Given the description of an element on the screen output the (x, y) to click on. 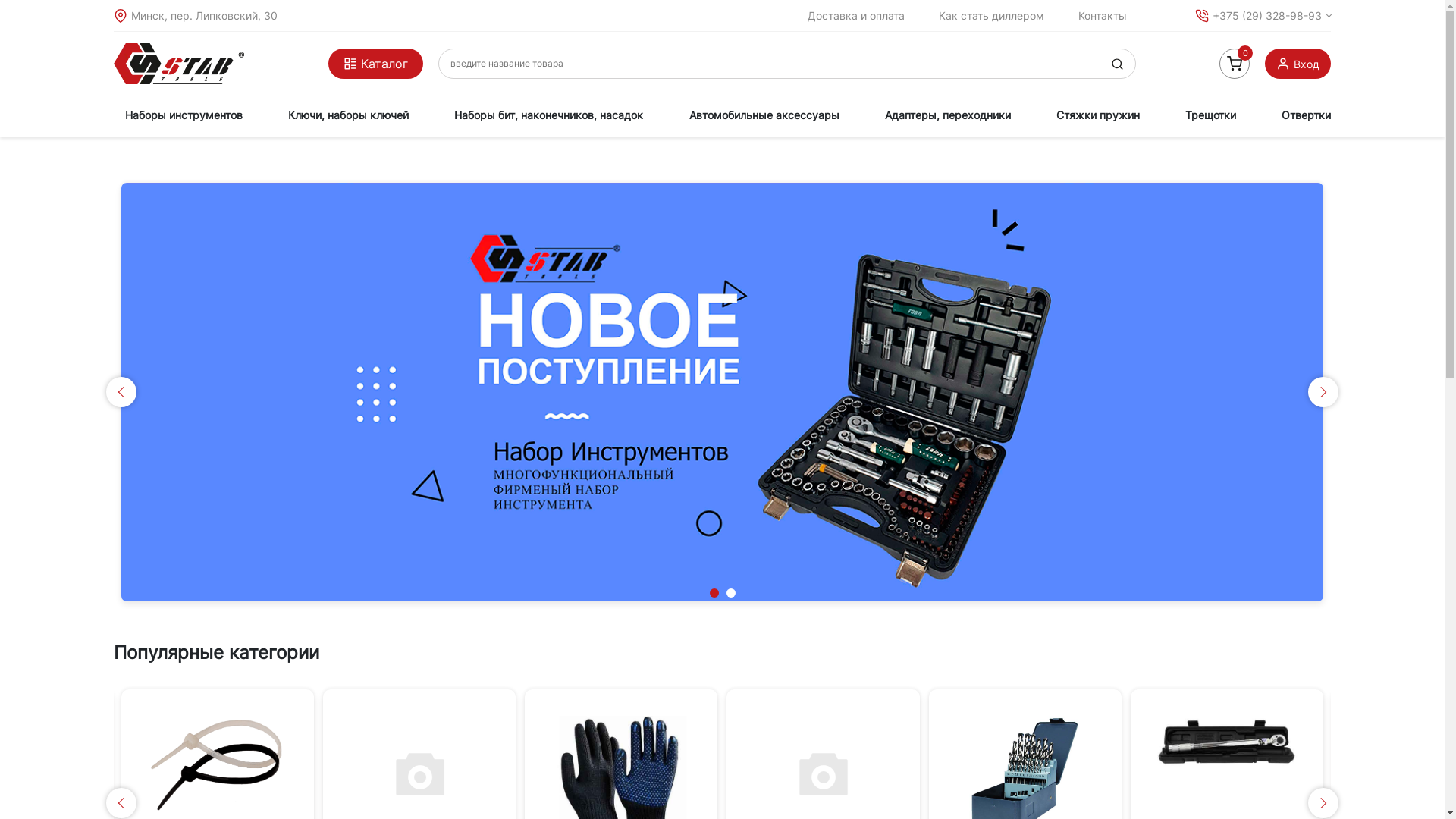
0 Element type: text (1234, 63)
